Given the description of an element on the screen output the (x, y) to click on. 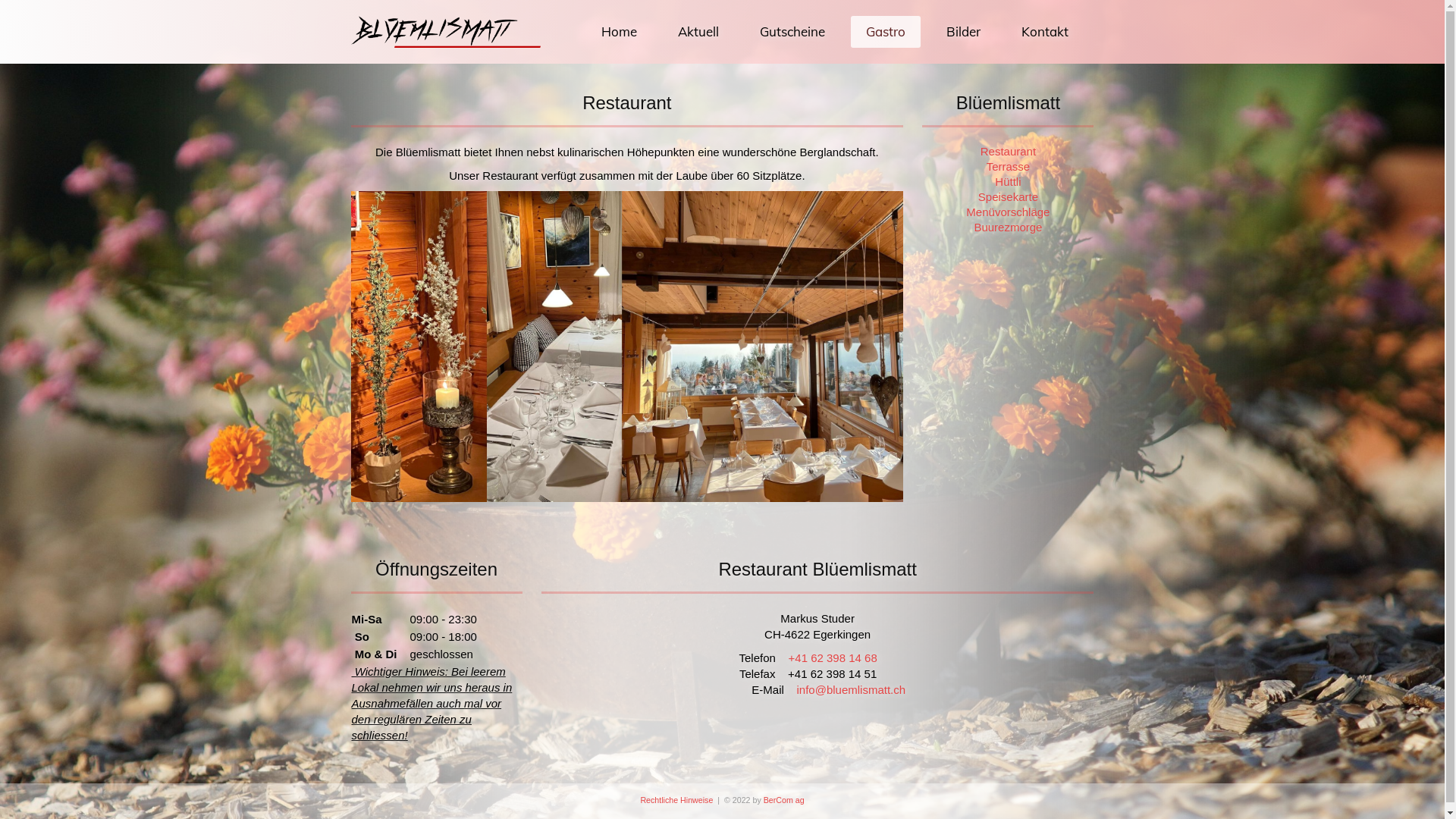
Terrasse Element type: text (1007, 166)
Buurezmorge Element type: text (1007, 227)
Restaurant Element type: text (1007, 151)
info@bluemlismatt.ch Element type: text (850, 689)
BerCom ag Element type: text (783, 799)
Gastro Element type: text (885, 31)
Aktuell Element type: text (698, 31)
Speisekarte Element type: text (1007, 196)
+41 62 398 14 68 Element type: text (832, 657)
Home Element type: text (618, 31)
Kontakt Element type: text (1043, 31)
Bilder Element type: text (963, 31)
Rechtliche Hinweise Element type: text (676, 799)
Gutscheine Element type: text (792, 31)
